Given the description of an element on the screen output the (x, y) to click on. 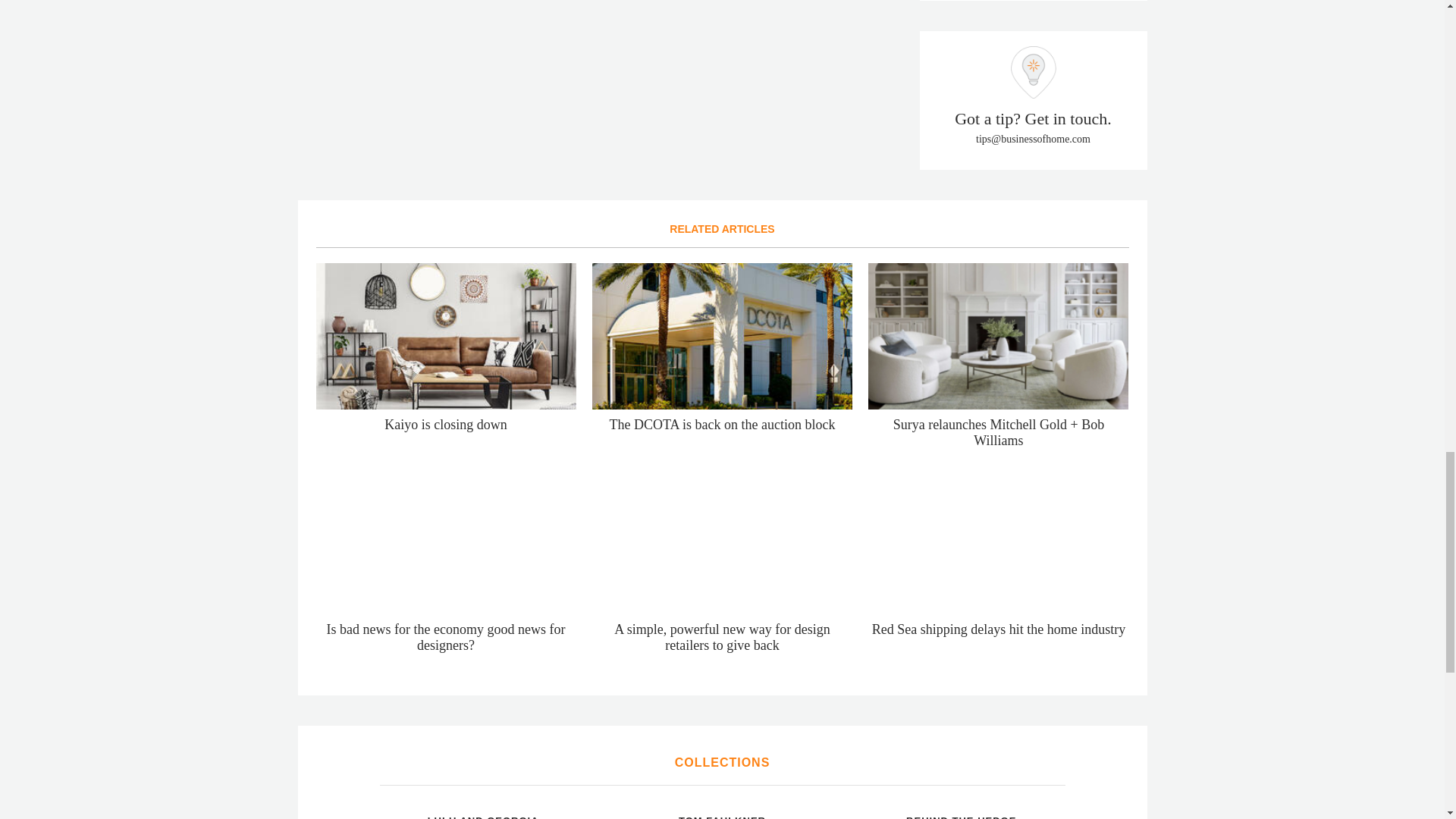
2024 Collections (624, 807)
Fall Collection (384, 807)
New Arrivals (863, 807)
